Given the description of an element on the screen output the (x, y) to click on. 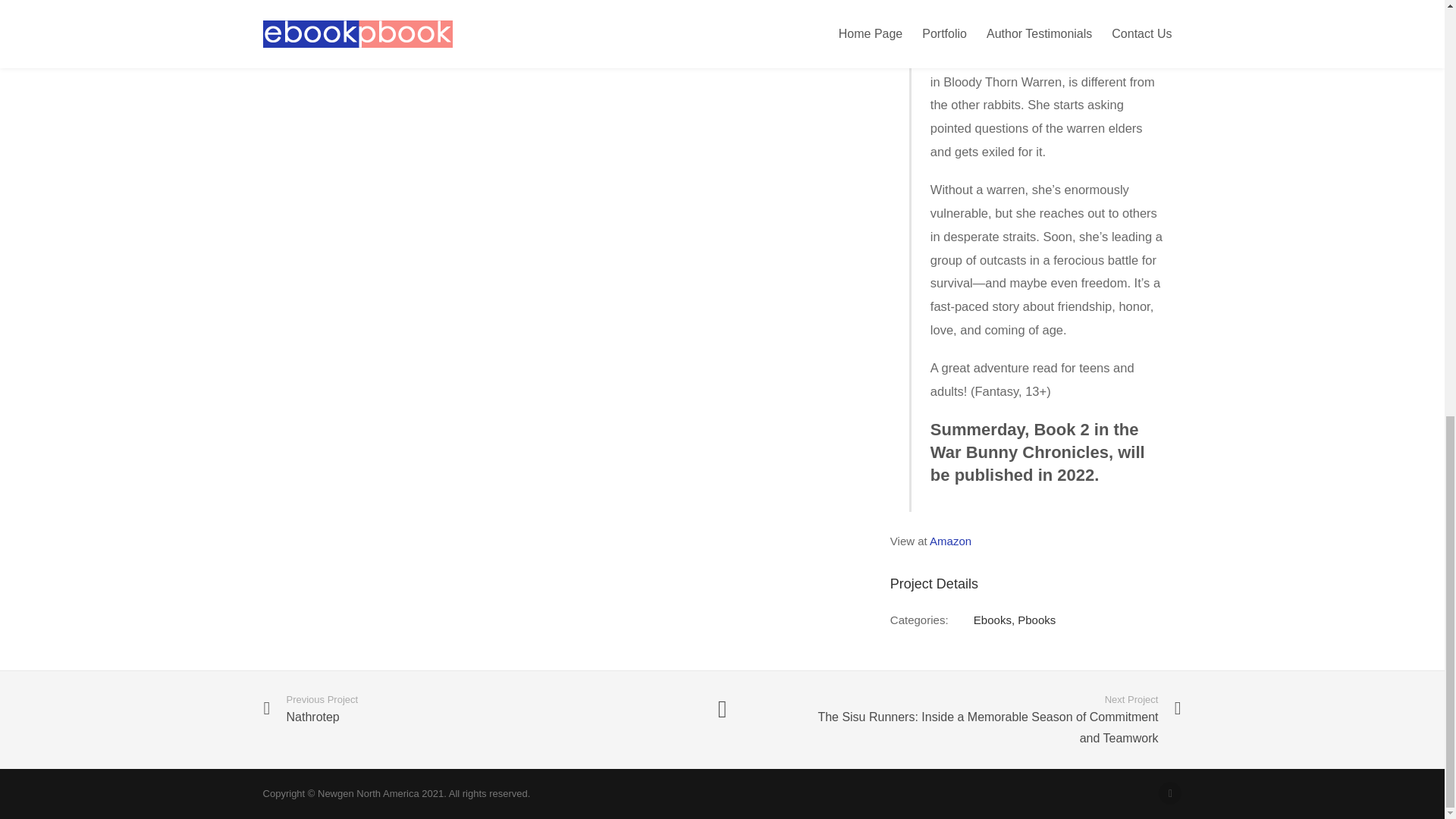
Amazon (448, 708)
